Given the description of an element on the screen output the (x, y) to click on. 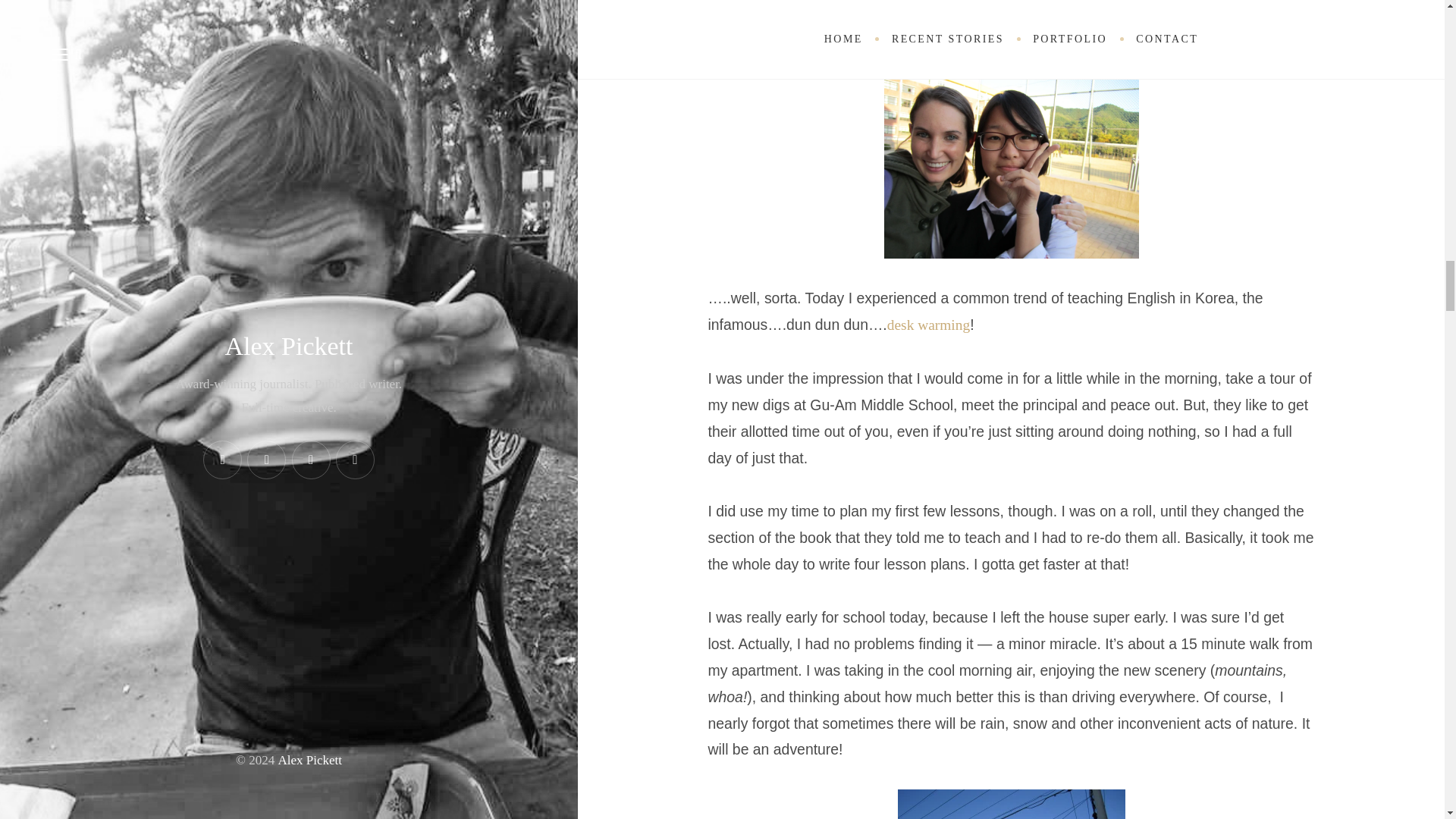
Hello Daegu (1010, 162)
